Given the description of an element on the screen output the (x, y) to click on. 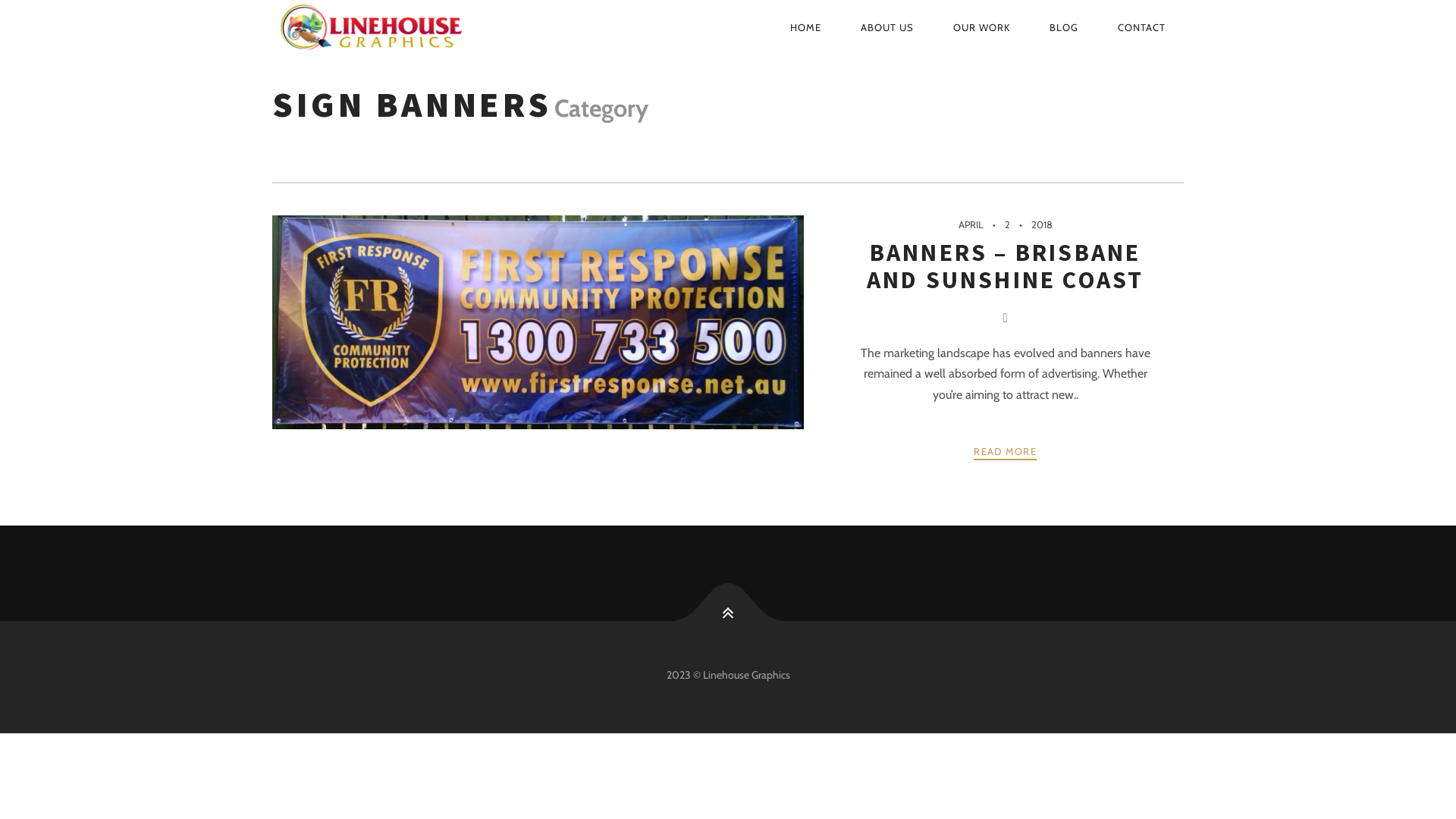
Linehouse Graphics Element type: hover (420, 27)
CONTACT Element type: text (1141, 26)
OUR WORK Element type: text (981, 26)
READ MORE Element type: text (1004, 452)
ABOUT US Element type: text (886, 26)
BLOG Element type: text (1063, 26)
HOME Element type: text (805, 26)
